Given the description of an element on the screen output the (x, y) to click on. 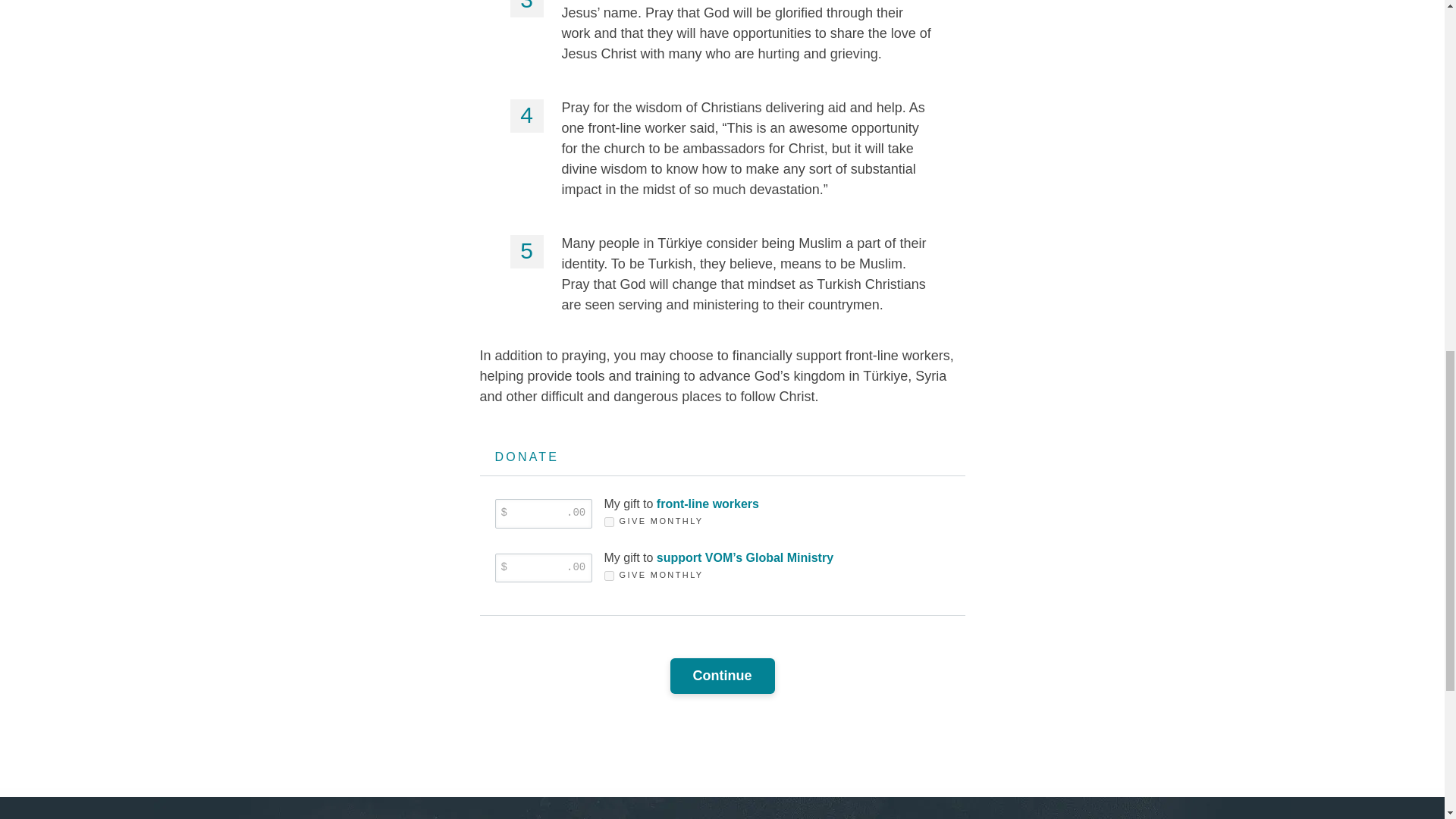
Continue (721, 675)
Y (608, 521)
Continue (721, 675)
Y (608, 575)
